Given the description of an element on the screen output the (x, y) to click on. 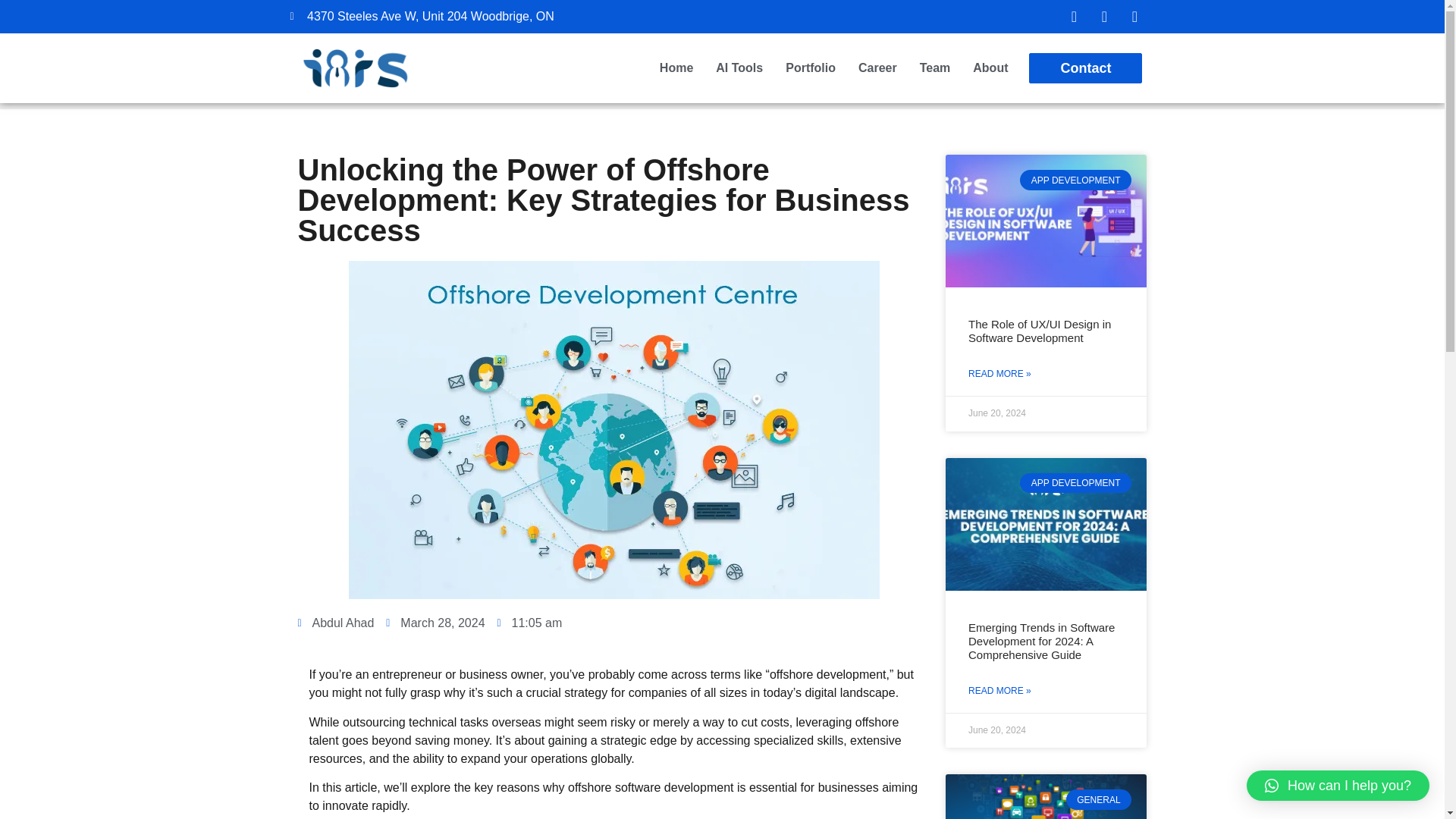
About (989, 68)
AI Tools (739, 68)
Abdul Ahad (335, 623)
March 28, 2024 (434, 623)
Portfolio (810, 68)
Team (935, 68)
Contact (1085, 68)
Career (877, 68)
Home (676, 68)
